Given the description of an element on the screen output the (x, y) to click on. 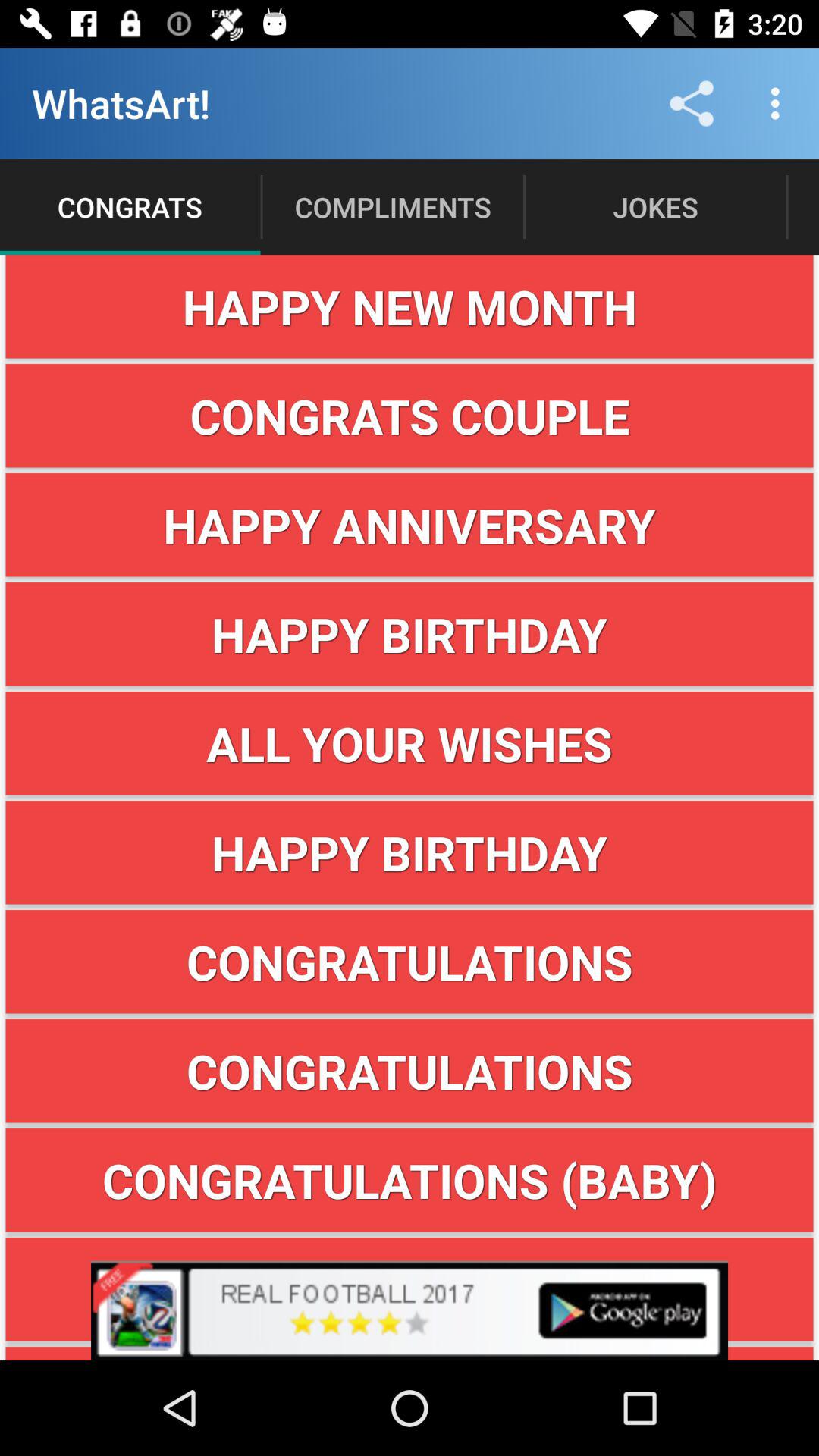
click on happy birthday (409, 852)
click on share icon (691, 103)
click on congratulations baby (409, 1179)
click on the button which is next to the compliments (655, 206)
click on happy new month above congrats couple (409, 306)
click on happy anniversary above happy birthday (409, 524)
